Given the description of an element on the screen output the (x, y) to click on. 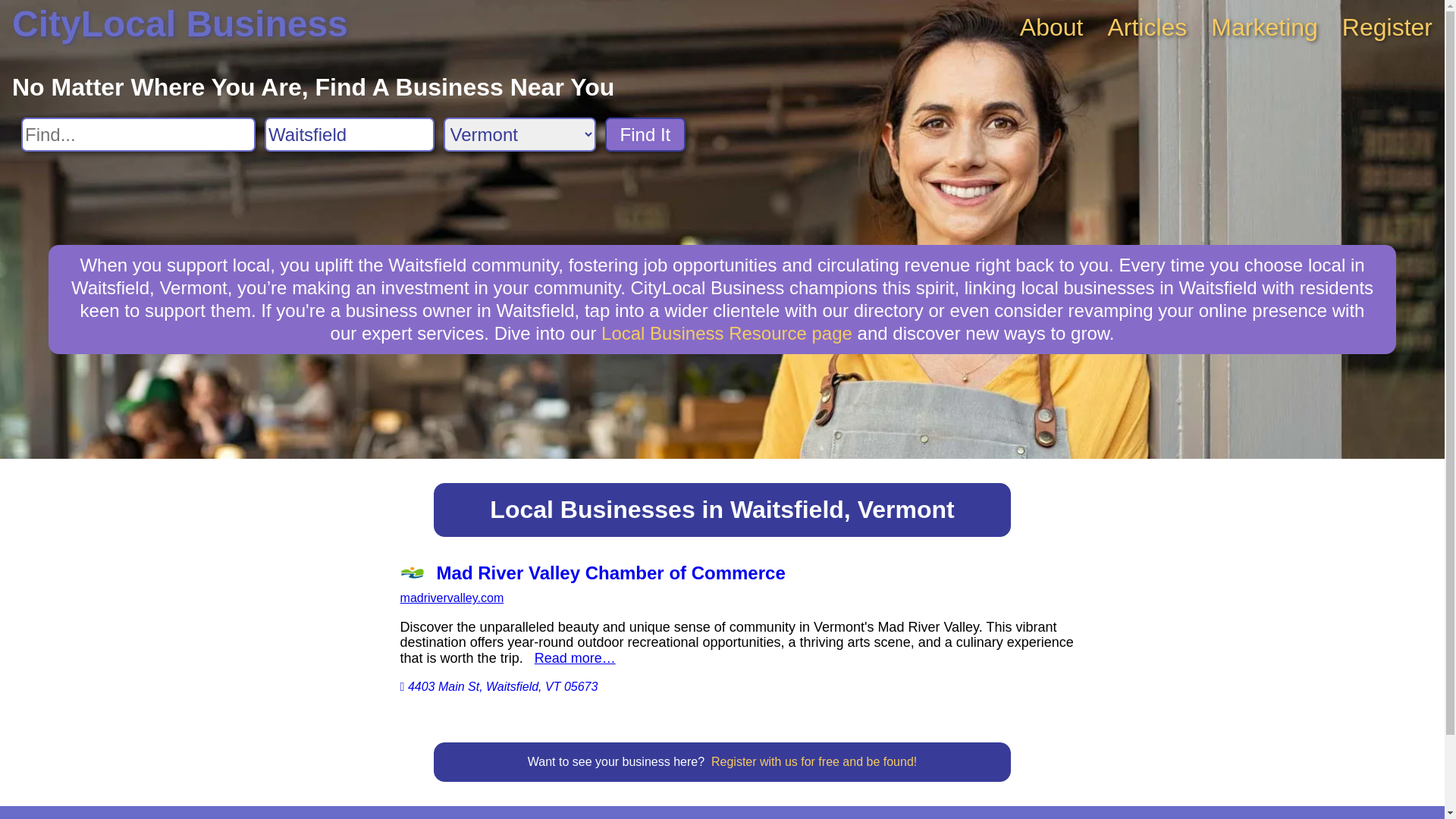
Mad River Valley Chamber of Commerce Element type: text (737, 573)
Register with us for free and be found! Element type: text (813, 761)
madrivervalley.com Element type: text (452, 597)
CityLocal Business Element type: text (180, 23)
About Element type: text (1051, 27)
Register Element type: text (1387, 27)
Articles Element type: text (1146, 27)
Local Business Resource page Element type: text (726, 333)
Find It Element type: text (645, 134)
Marketing Element type: text (1264, 27)
